Given the description of an element on the screen output the (x, y) to click on. 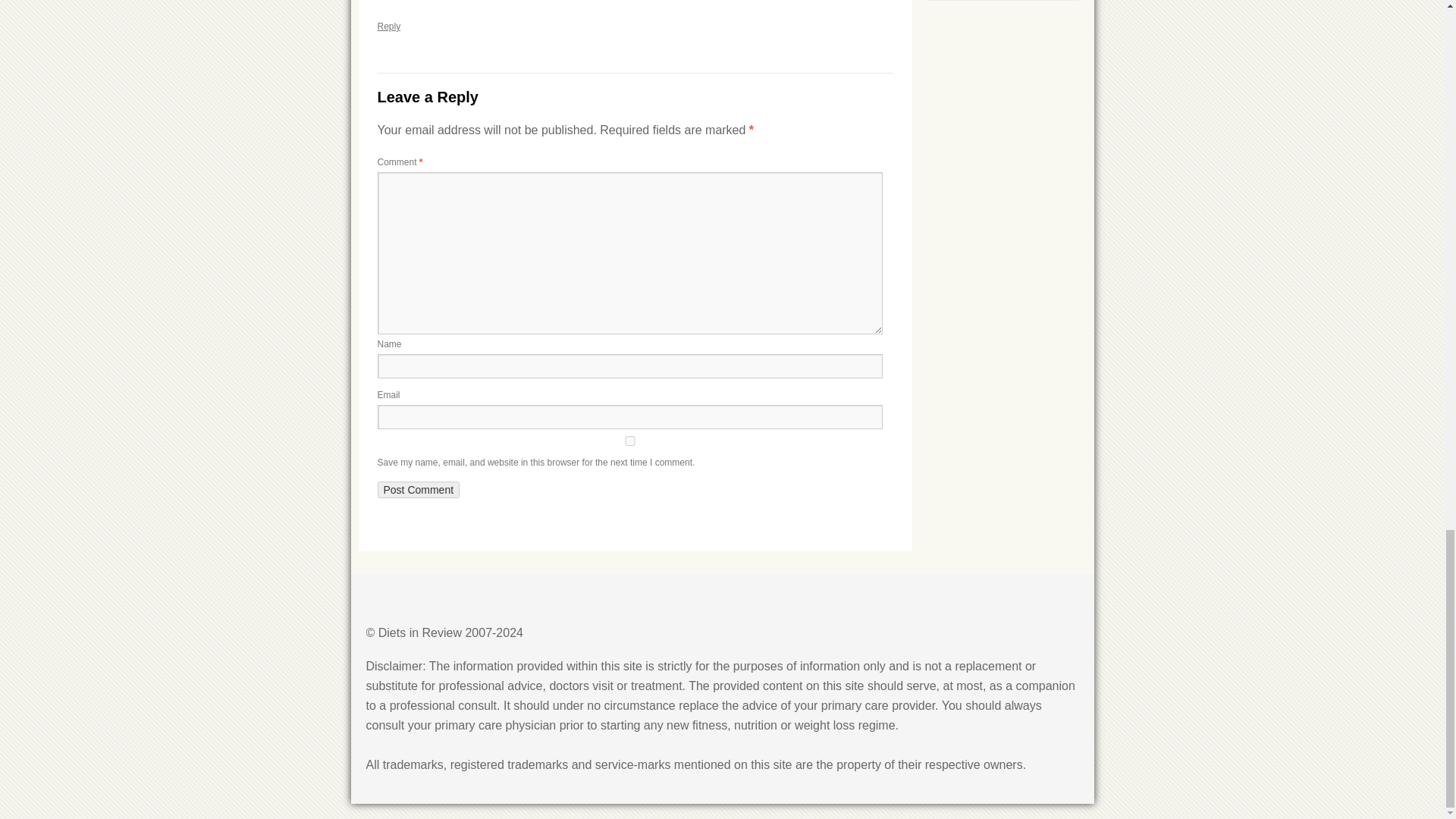
yes (629, 440)
Post Comment (418, 489)
